Given the description of an element on the screen output the (x, y) to click on. 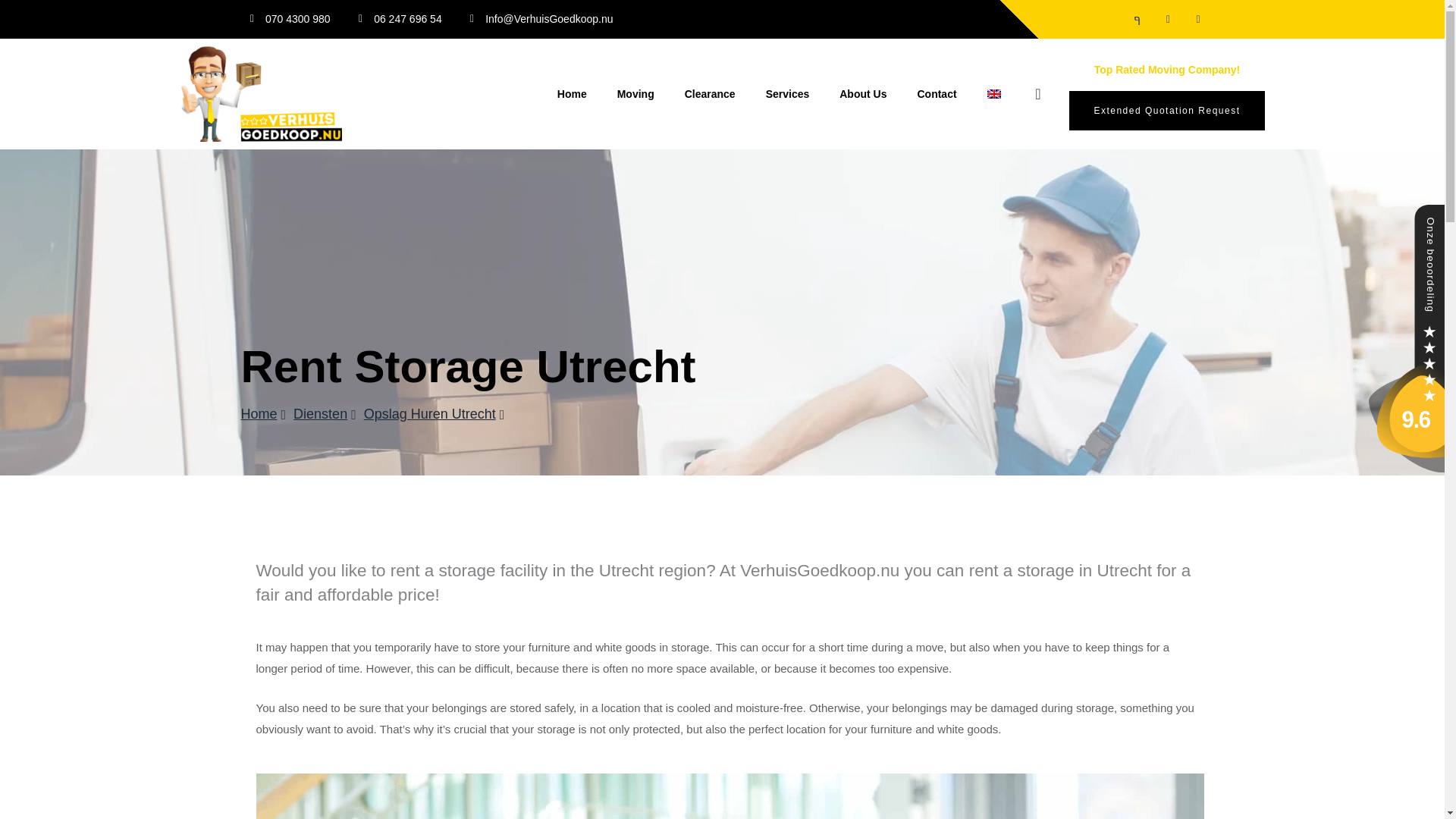
Clearance (710, 93)
Opslag Huren Utrecht (434, 414)
Contact (936, 93)
About Us (862, 93)
Home (571, 93)
Home (263, 414)
Diensten (325, 414)
070 4300 980 (285, 18)
06 247 696 54 (395, 18)
Extended Quotation Request (1165, 110)
Services (788, 93)
Moving (635, 93)
